Given the description of an element on the screen output the (x, y) to click on. 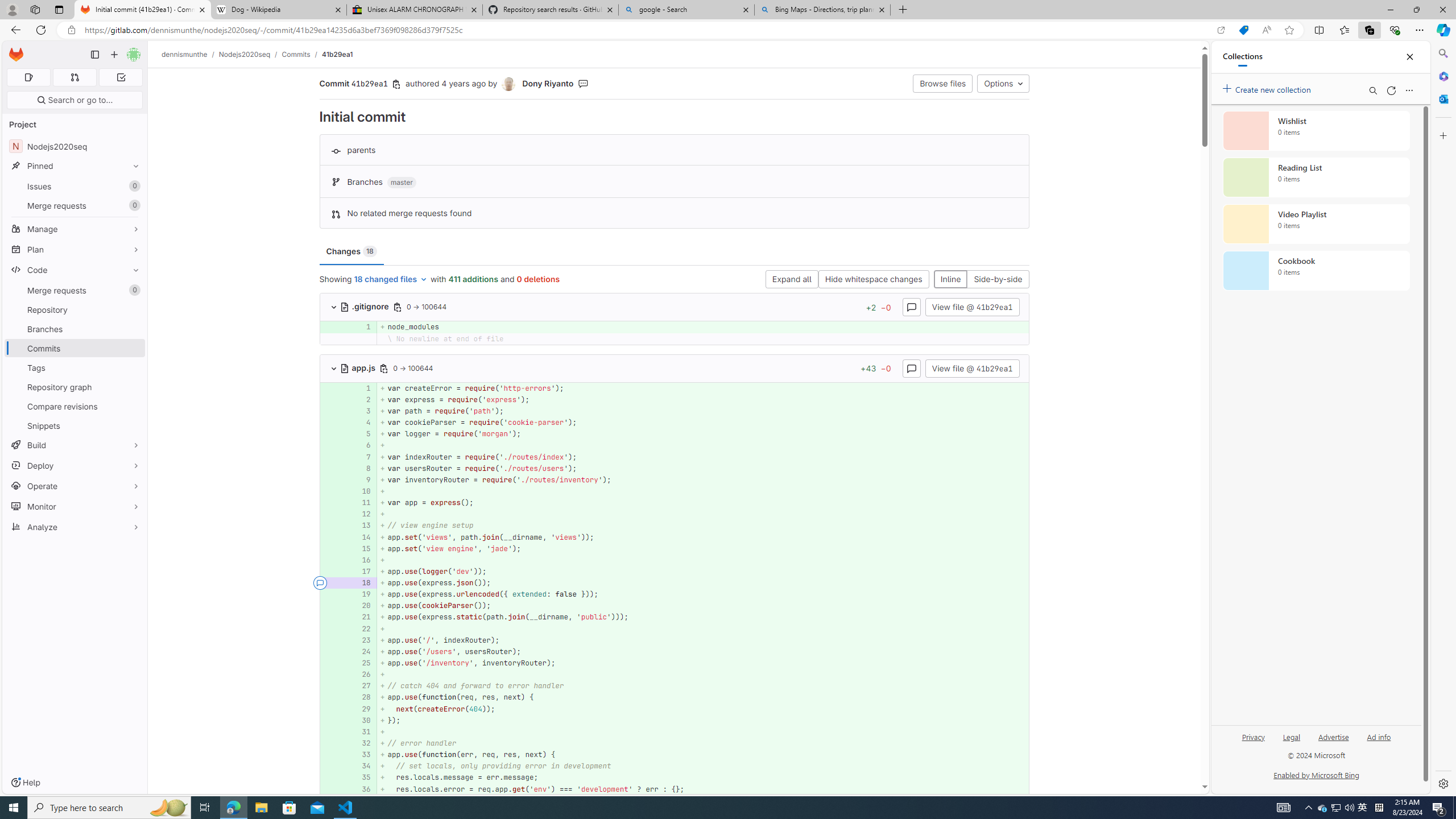
Merge requests 0 (74, 289)
Pin Tags (132, 367)
Read aloud this page (Ctrl+Shift+U) (1266, 29)
27 (360, 686)
Pin Commits (132, 348)
Branches (74, 328)
Monitor (74, 506)
Commits (295, 53)
google - Search (685, 9)
Open in app (1220, 29)
30 (362, 720)
Manage (74, 228)
